Given the description of an element on the screen output the (x, y) to click on. 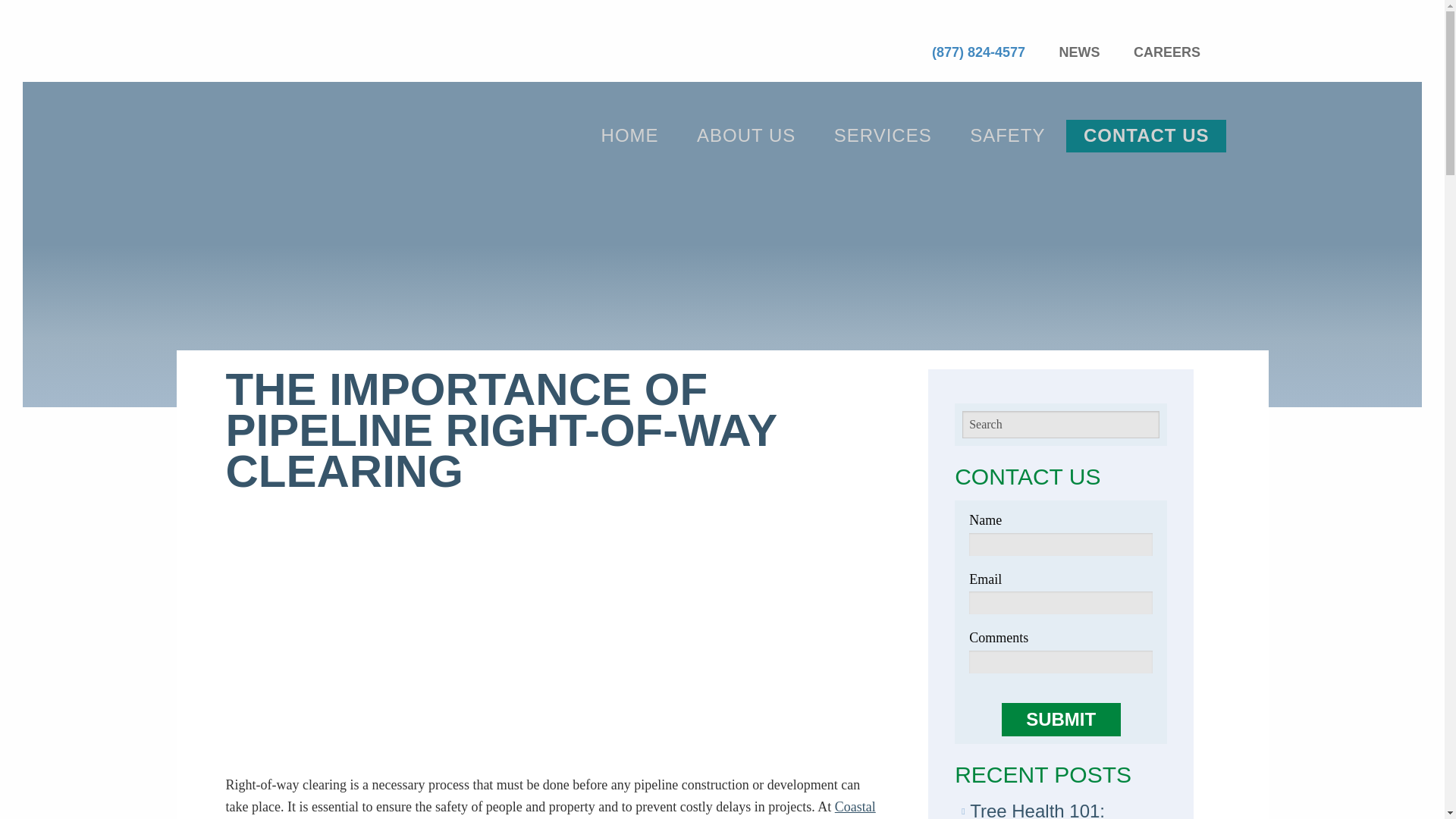
Coastal Spray (278, 134)
CAREERS (1166, 52)
HOME (629, 135)
NEWS (1079, 52)
Tree Health 101: Detecting and Preventing Common Diseases (1052, 809)
CONTACT US (1146, 135)
Submit (1061, 719)
SAFETY (1007, 135)
Coastal Spray (550, 809)
SERVICES (882, 136)
ABOUT US (745, 135)
Submit (1061, 719)
